Given the description of an element on the screen output the (x, y) to click on. 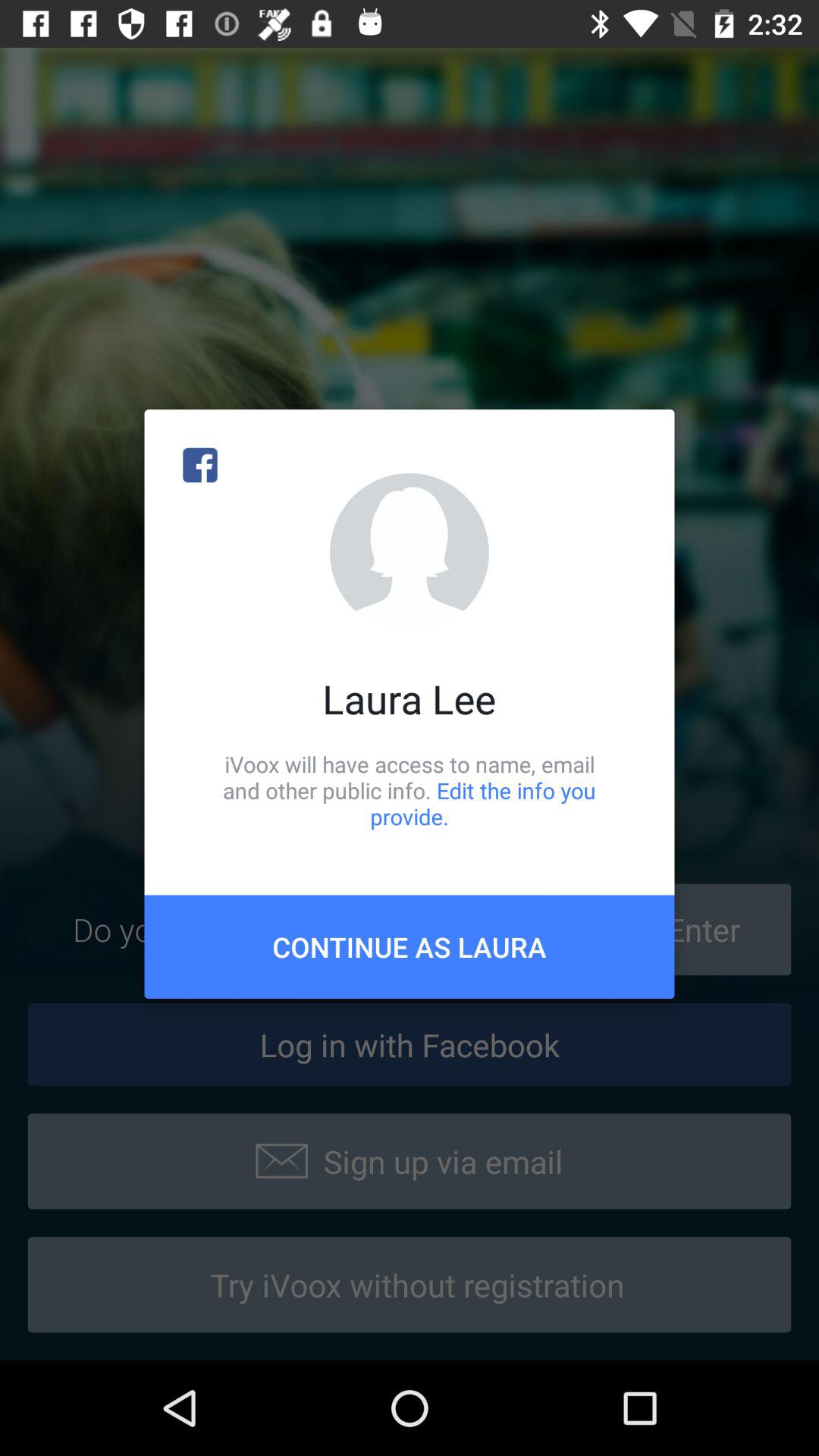
open the ivoox will have (409, 790)
